Given the description of an element on the screen output the (x, y) to click on. 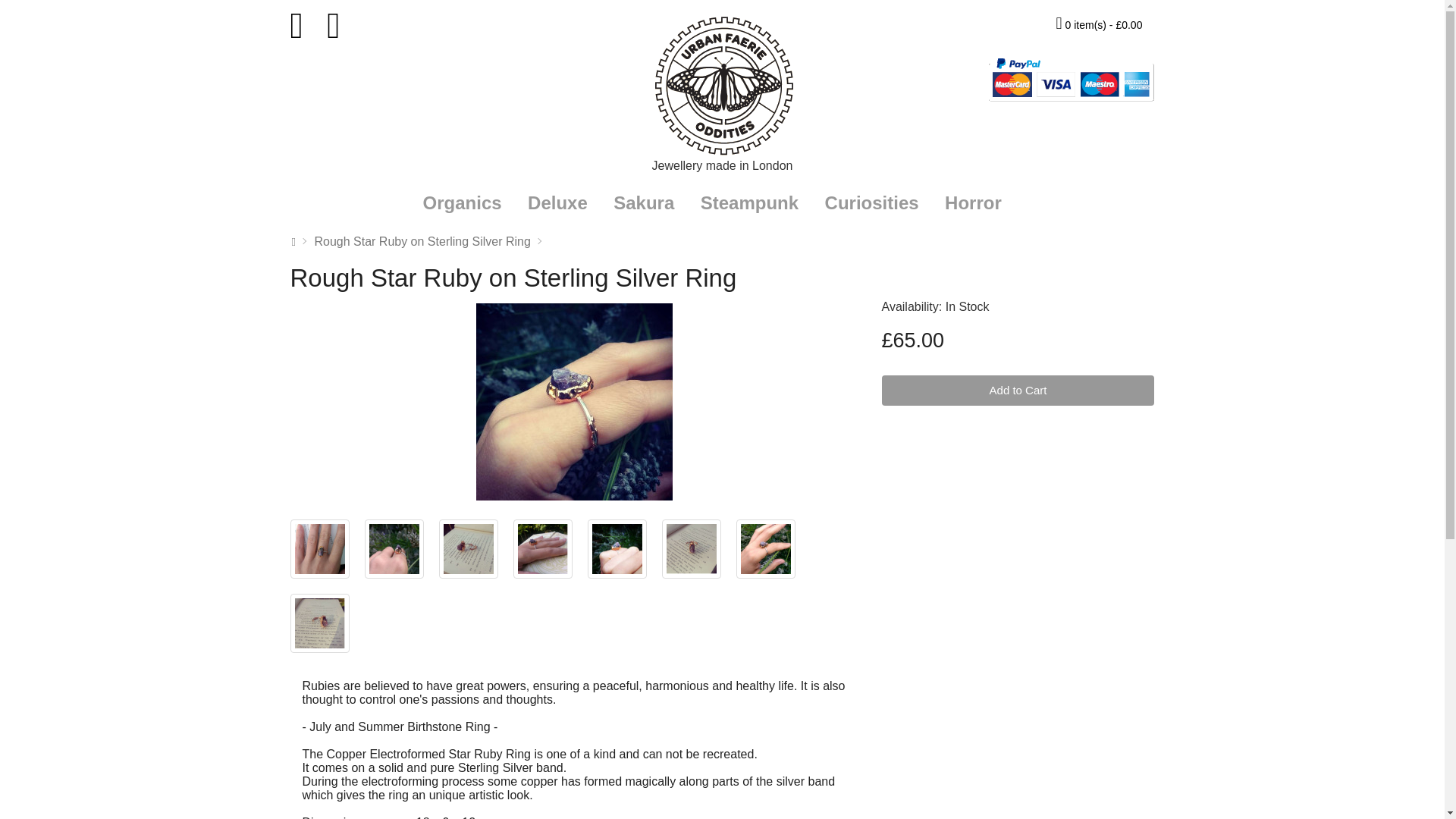
star-ruby-sterling-silver-ring (318, 549)
Urban Faerie Oddities (722, 82)
star-ruby-sterling-silver-ring (319, 548)
star-ruby-sterling-silver-ring (393, 549)
Add to Cart (1017, 390)
star-ruby-sterling-silver-ring (764, 549)
star-ruby-sterling-silver-ring (467, 548)
star-ruby-sterling-silver-ring (616, 548)
star-ruby-sterling-silver-ring (616, 549)
star-ruby-sterling-silver-ring (542, 548)
